Given the description of an element on the screen output the (x, y) to click on. 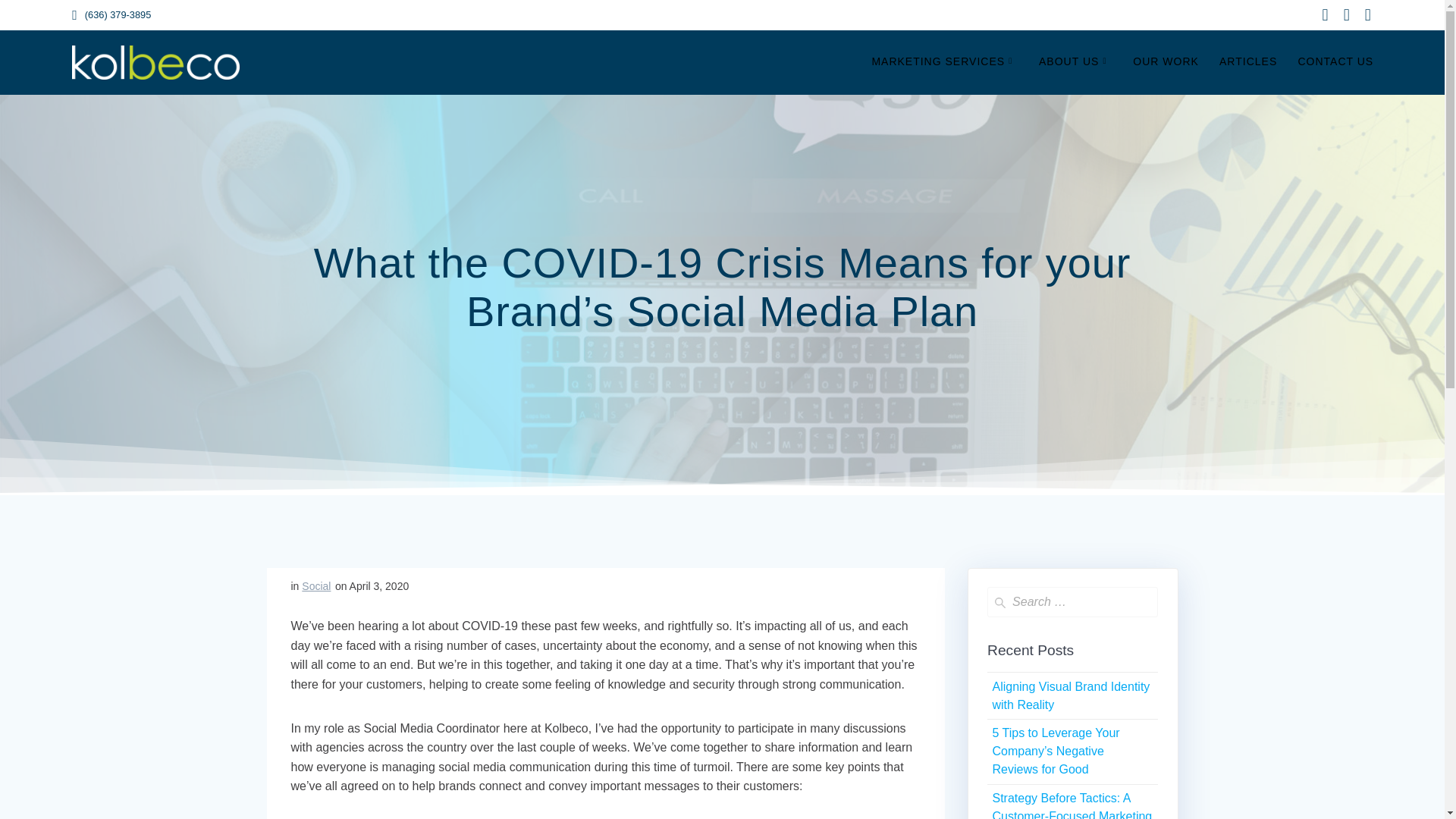
ARTICLES (1248, 62)
OUR WORK (1165, 62)
ABOUT US (1075, 62)
MARKETING SERVICES (943, 62)
CONTACT US (1335, 62)
